Given the description of an element on the screen output the (x, y) to click on. 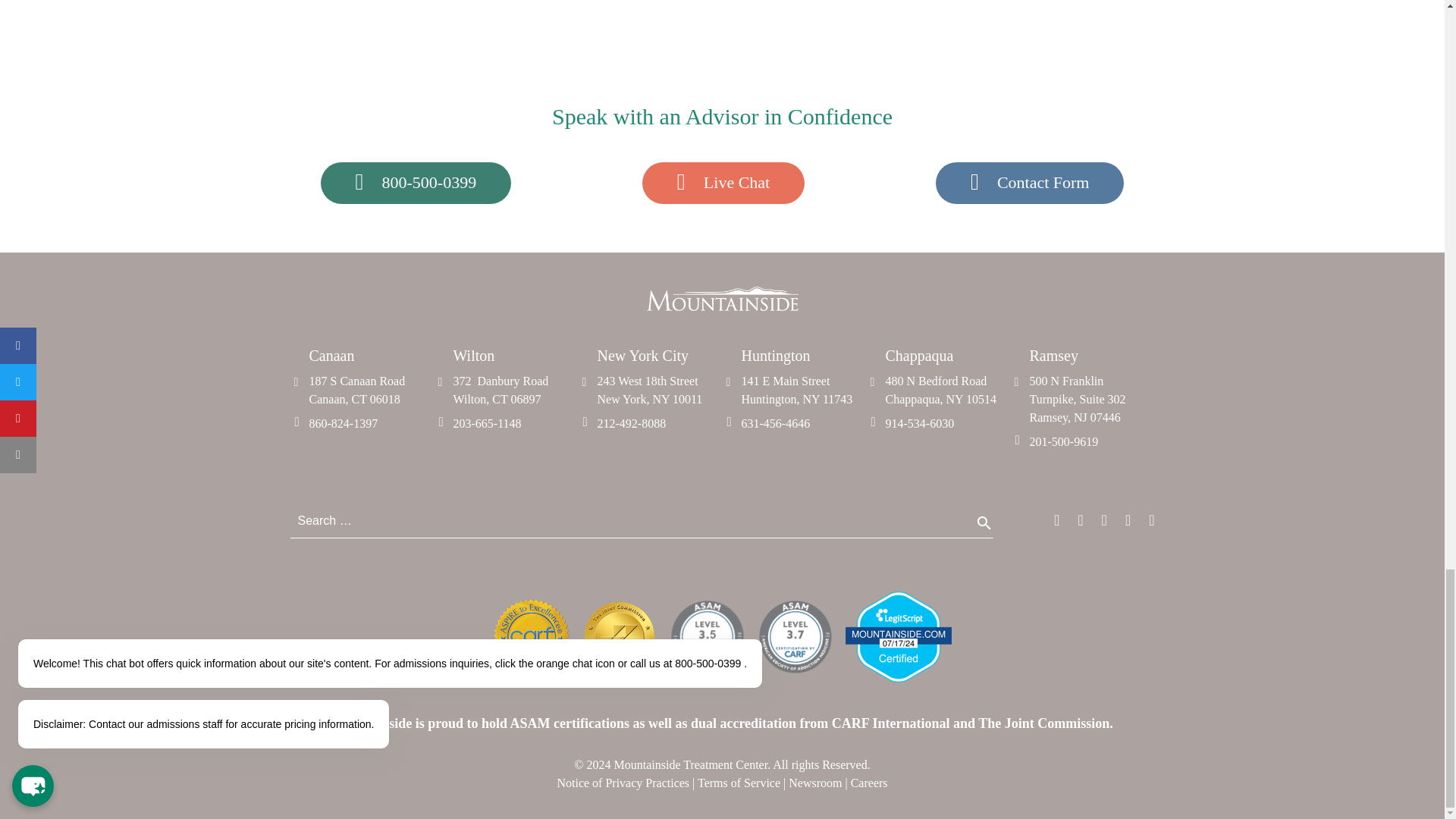
203-665-1148 (513, 423)
800-500-0399 (369, 390)
Search (415, 182)
201-500-9619 (802, 390)
Search (985, 530)
Verify LegitScript Approval (1090, 399)
Terms of Service (1090, 442)
The Alumni Takeover! (985, 530)
914-534-6030 (897, 677)
Newsroom (738, 782)
